Given the description of an element on the screen output the (x, y) to click on. 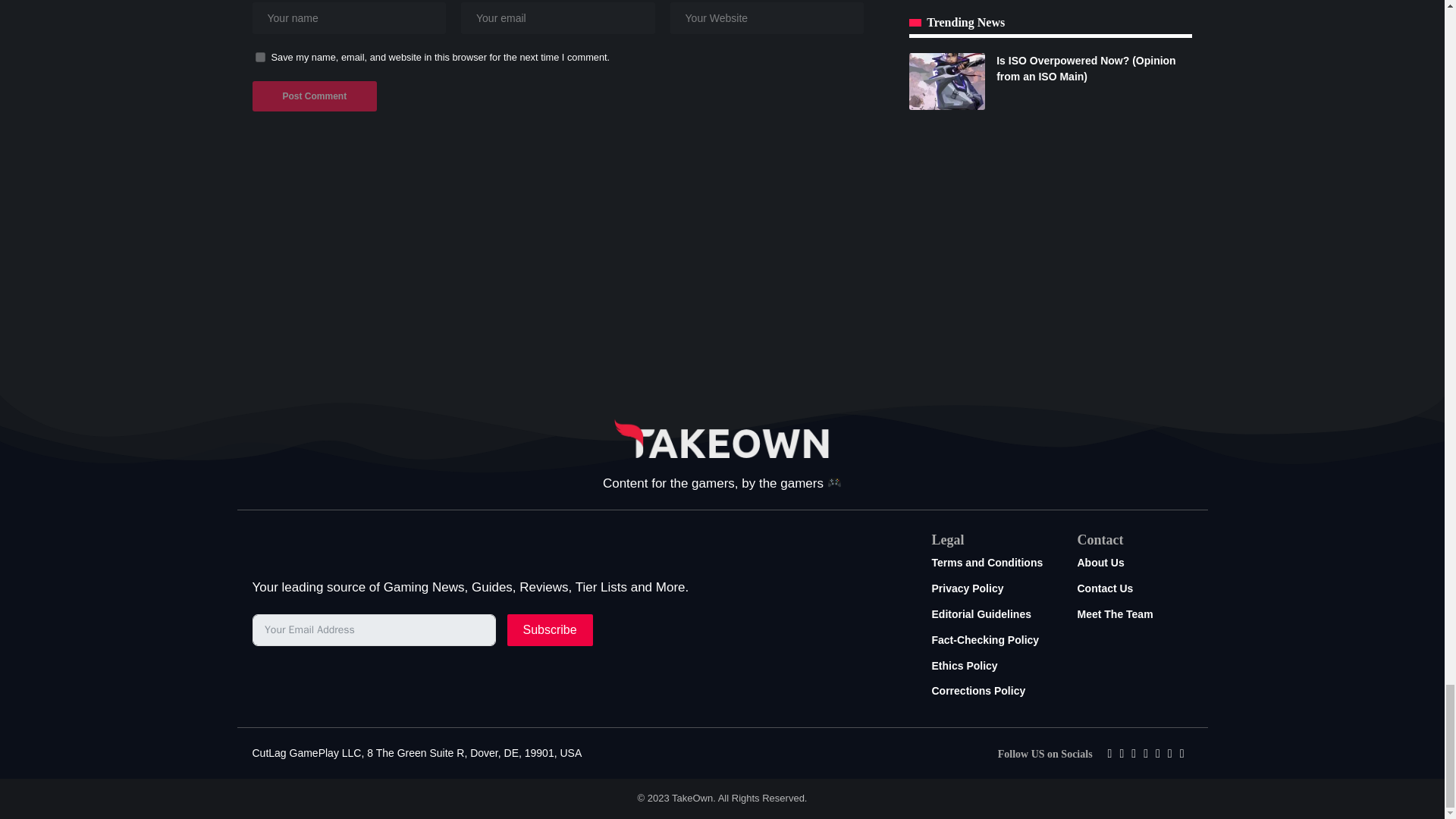
yes (259, 57)
Post Comment (314, 96)
